Given the description of an element on the screen output the (x, y) to click on. 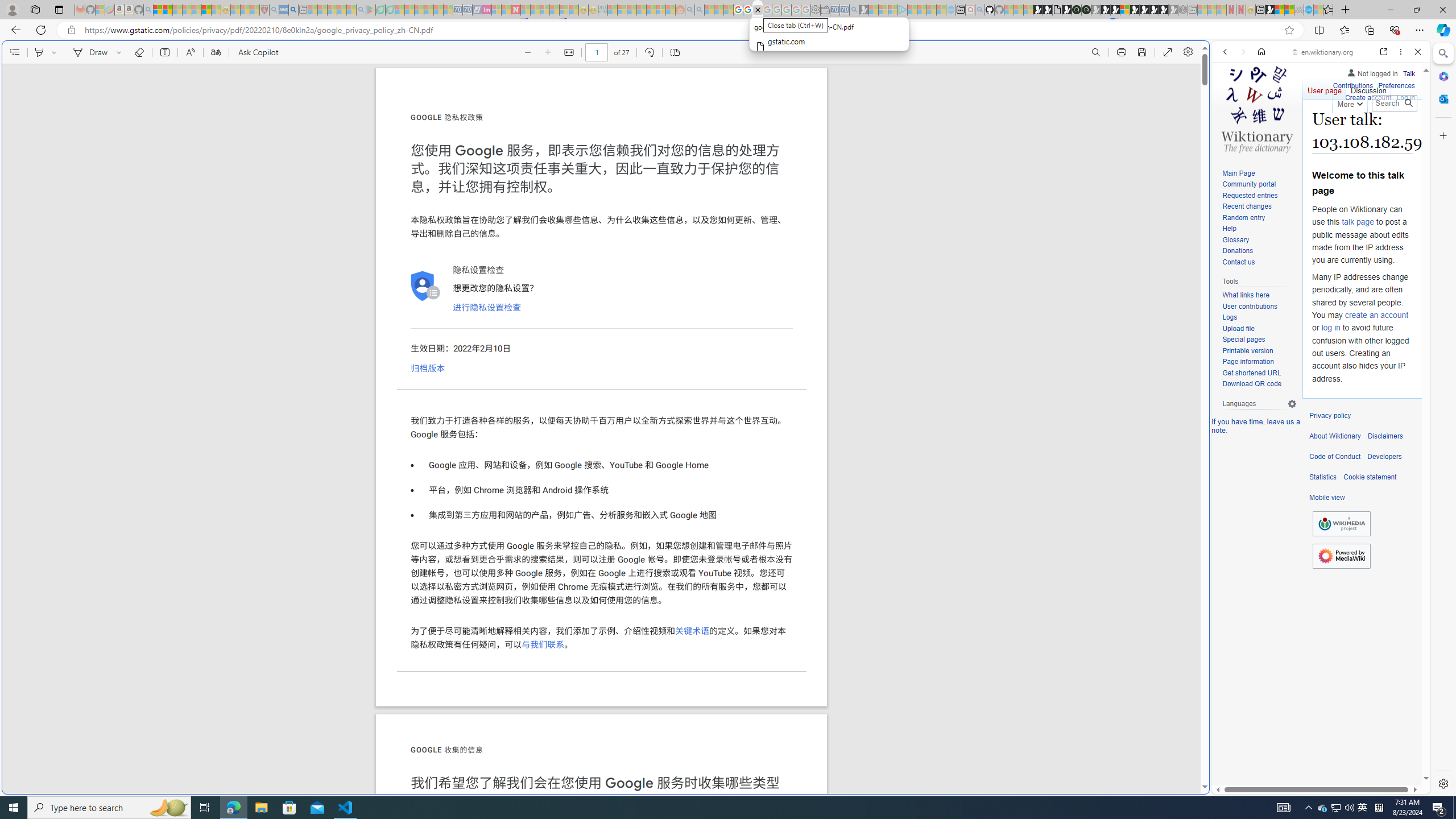
Enter PDF full screen (1167, 52)
Play Cave FRVR in your browser | Games from Microsoft Start (1105, 9)
14 Common Myths Debunked By Scientific Facts - Sleeping (534, 9)
Get shortened URL (1251, 372)
Download QR code (1251, 384)
Web scope (1230, 102)
Close Customize pane (1442, 135)
Recent changes (1259, 206)
Privacy policy (1329, 415)
